Given the description of an element on the screen output the (x, y) to click on. 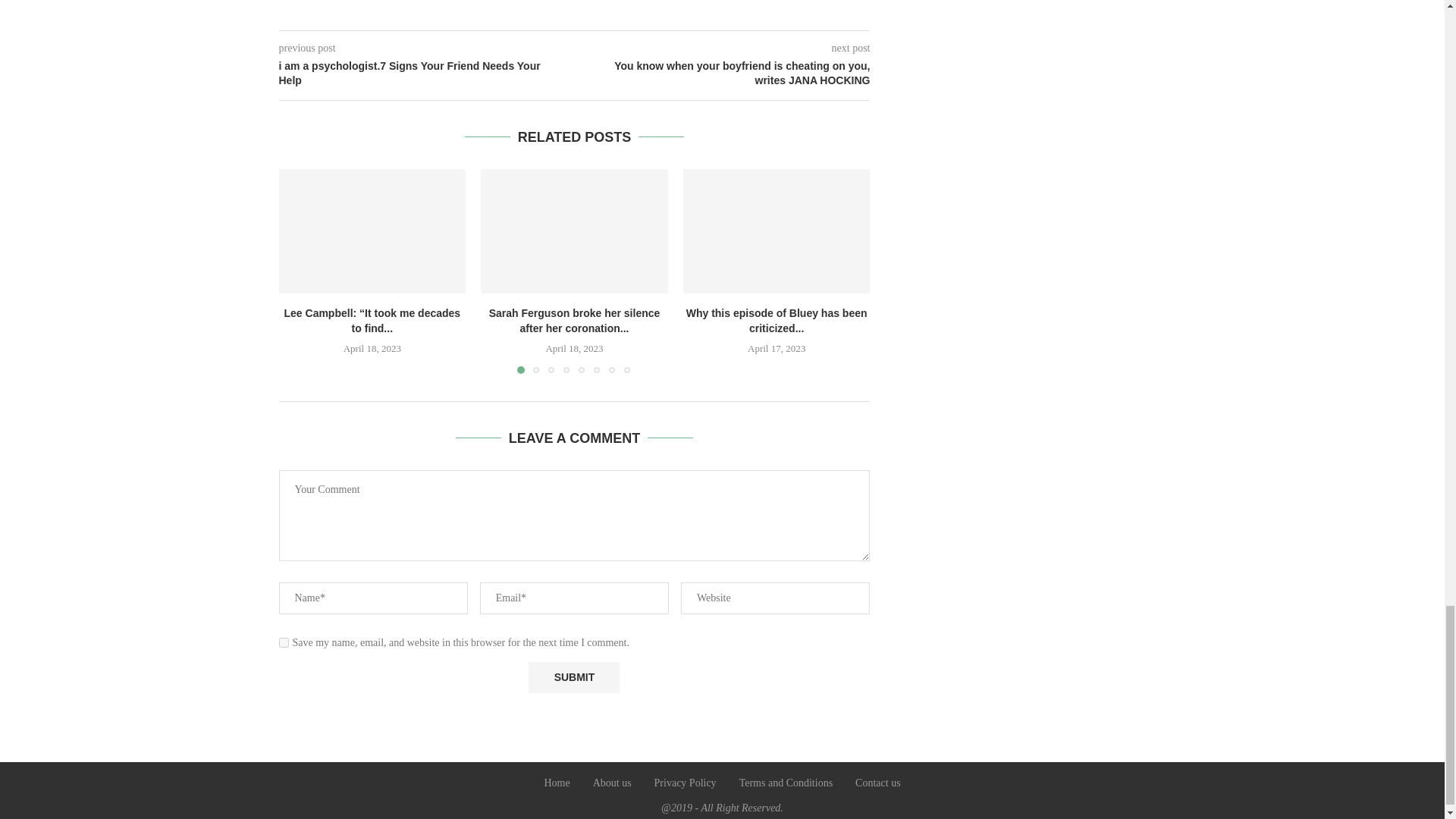
Submit (574, 676)
yes (283, 642)
